Given the description of an element on the screen output the (x, y) to click on. 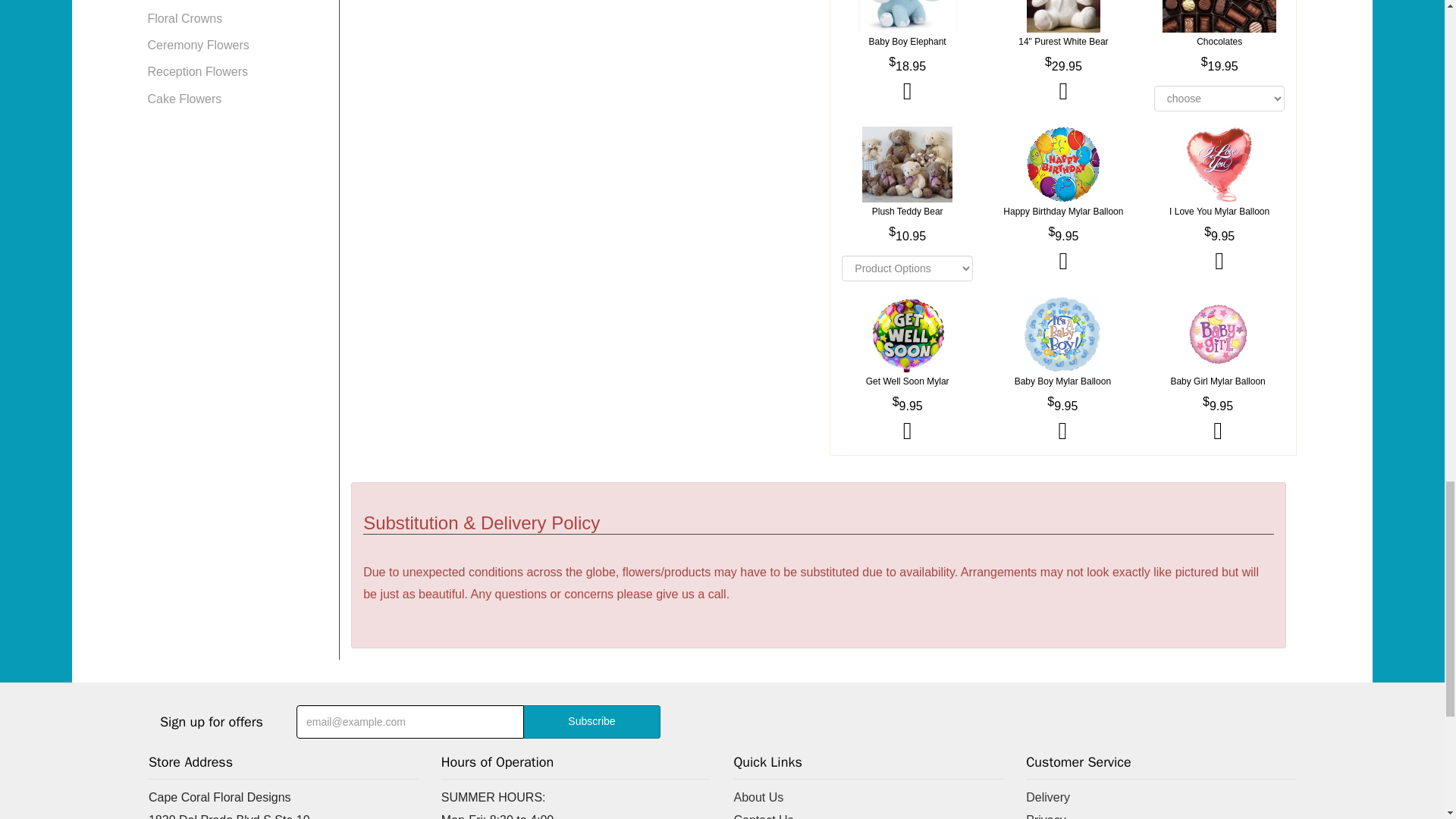
Subscribe (592, 721)
